Given the description of an element on the screen output the (x, y) to click on. 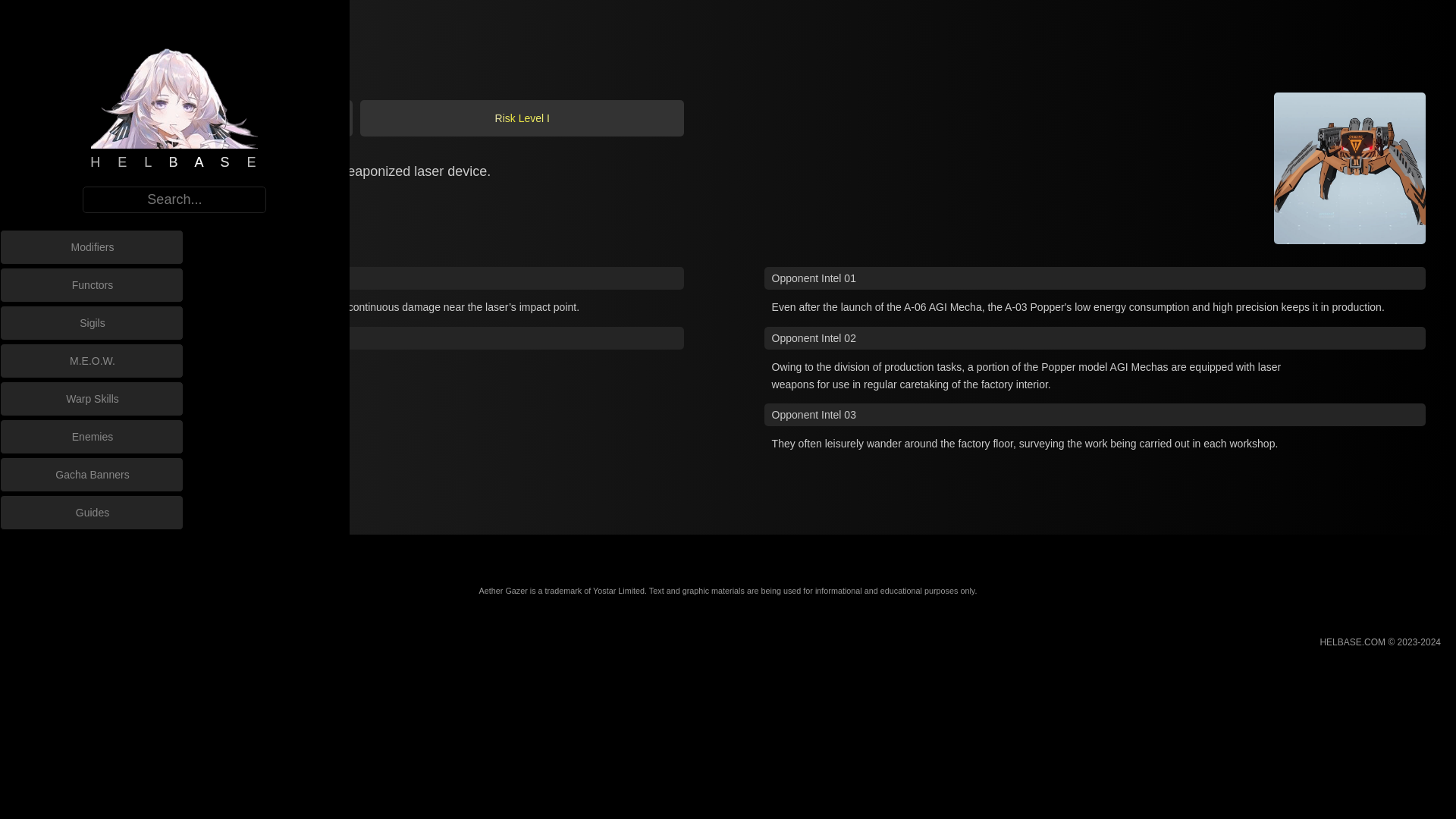
Enemies (92, 436)
Gacha Banners (92, 474)
Guides (92, 512)
M.E.O.W. (92, 360)
Warp Skills (92, 398)
Sigils (92, 322)
Modifiers (92, 246)
Functors (92, 285)
